Given the description of an element on the screen output the (x, y) to click on. 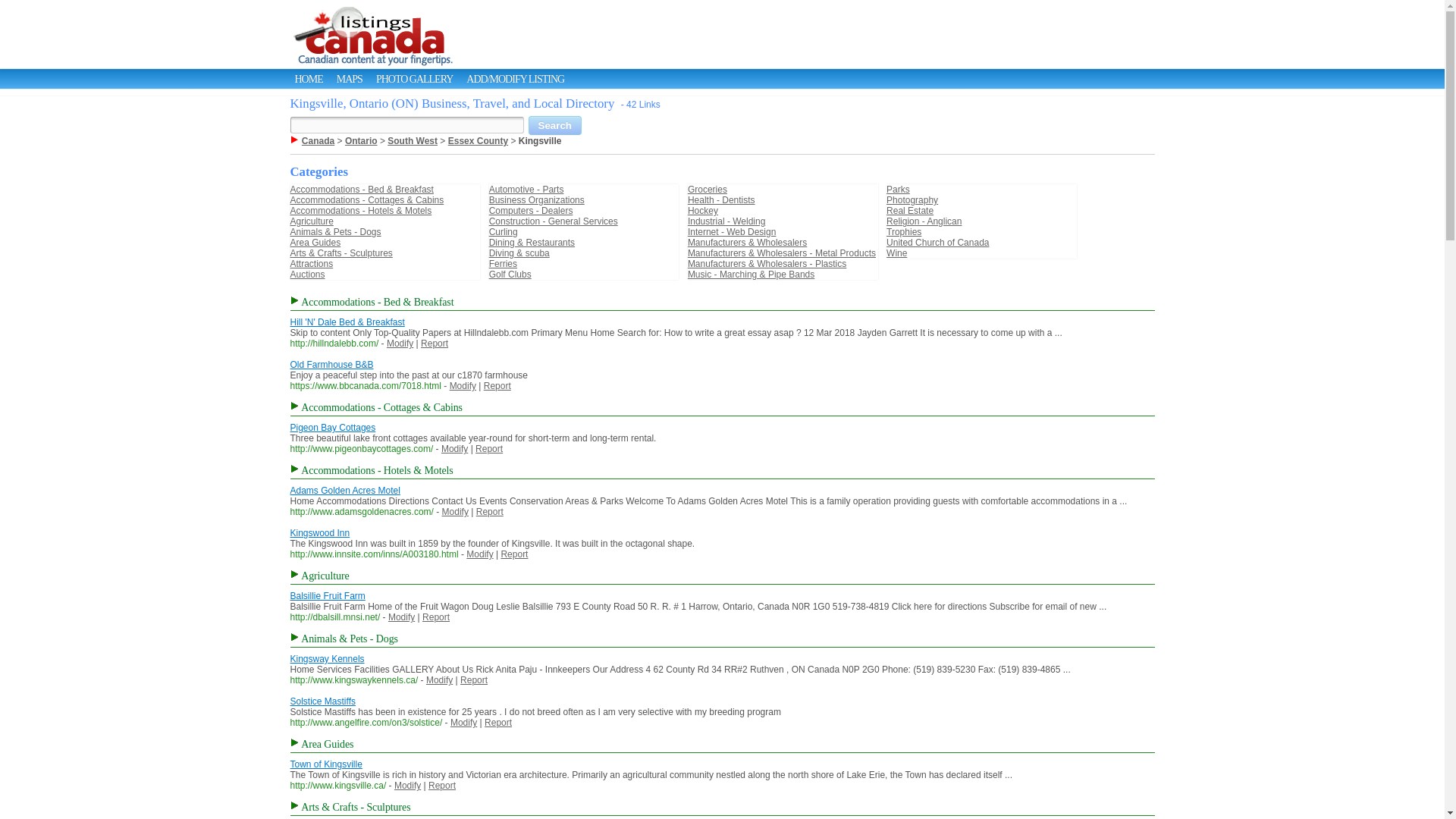
Agriculture (311, 221)
PHOTO GALLERY (413, 79)
Internet - Web Design (731, 231)
Health - Dentists (721, 199)
Auctions (306, 274)
Area Guides (314, 242)
Industrial - Welding (726, 221)
Essex County (478, 140)
Ontario (361, 140)
Groceries (706, 189)
